Given the description of an element on the screen output the (x, y) to click on. 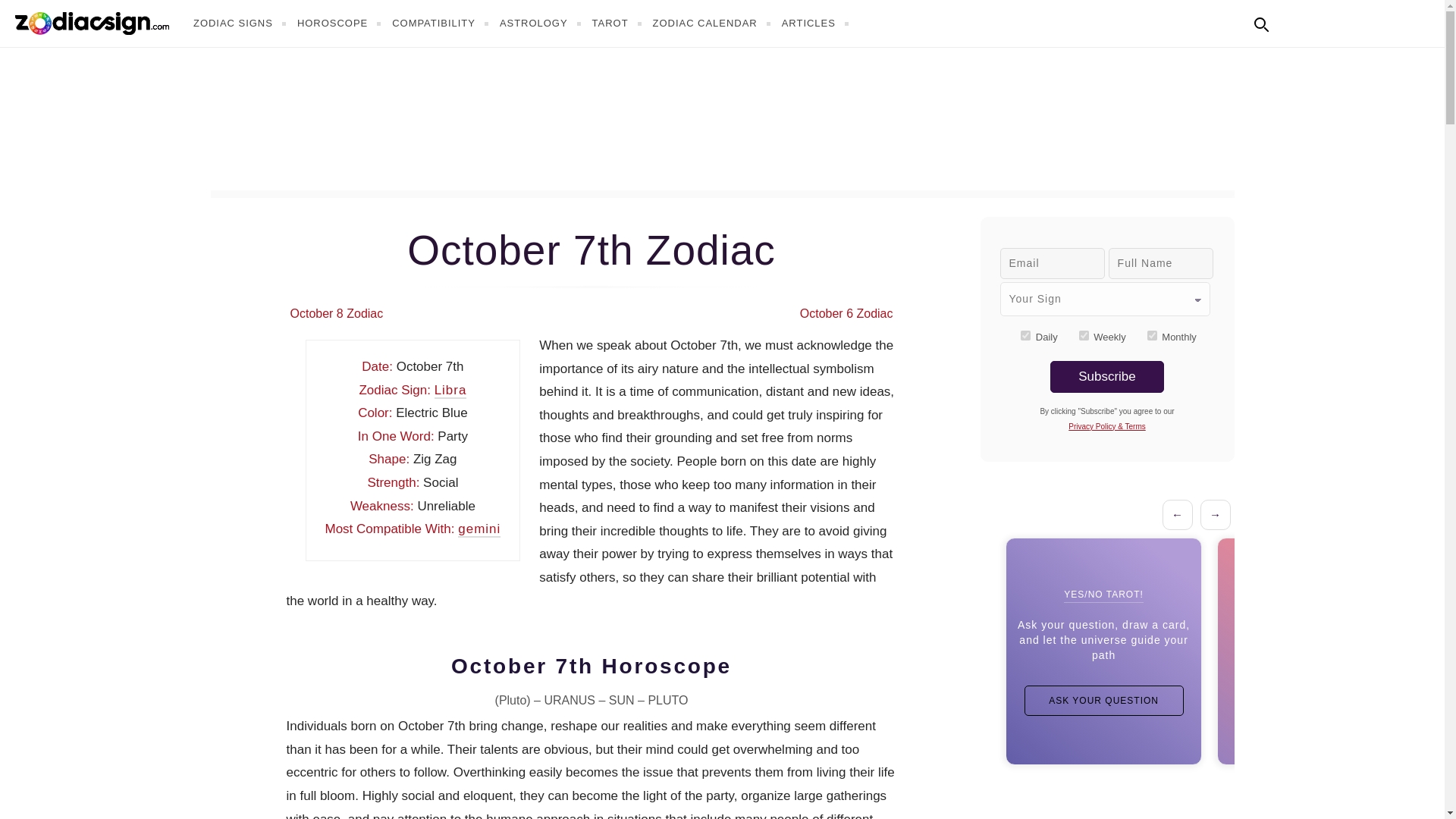
monthly (1152, 335)
HOROSCOPE (341, 23)
weekly (1083, 335)
daily (1025, 335)
In English (1294, 21)
ZODIAC SIGNS (241, 23)
